Given the description of an element on the screen output the (x, y) to click on. 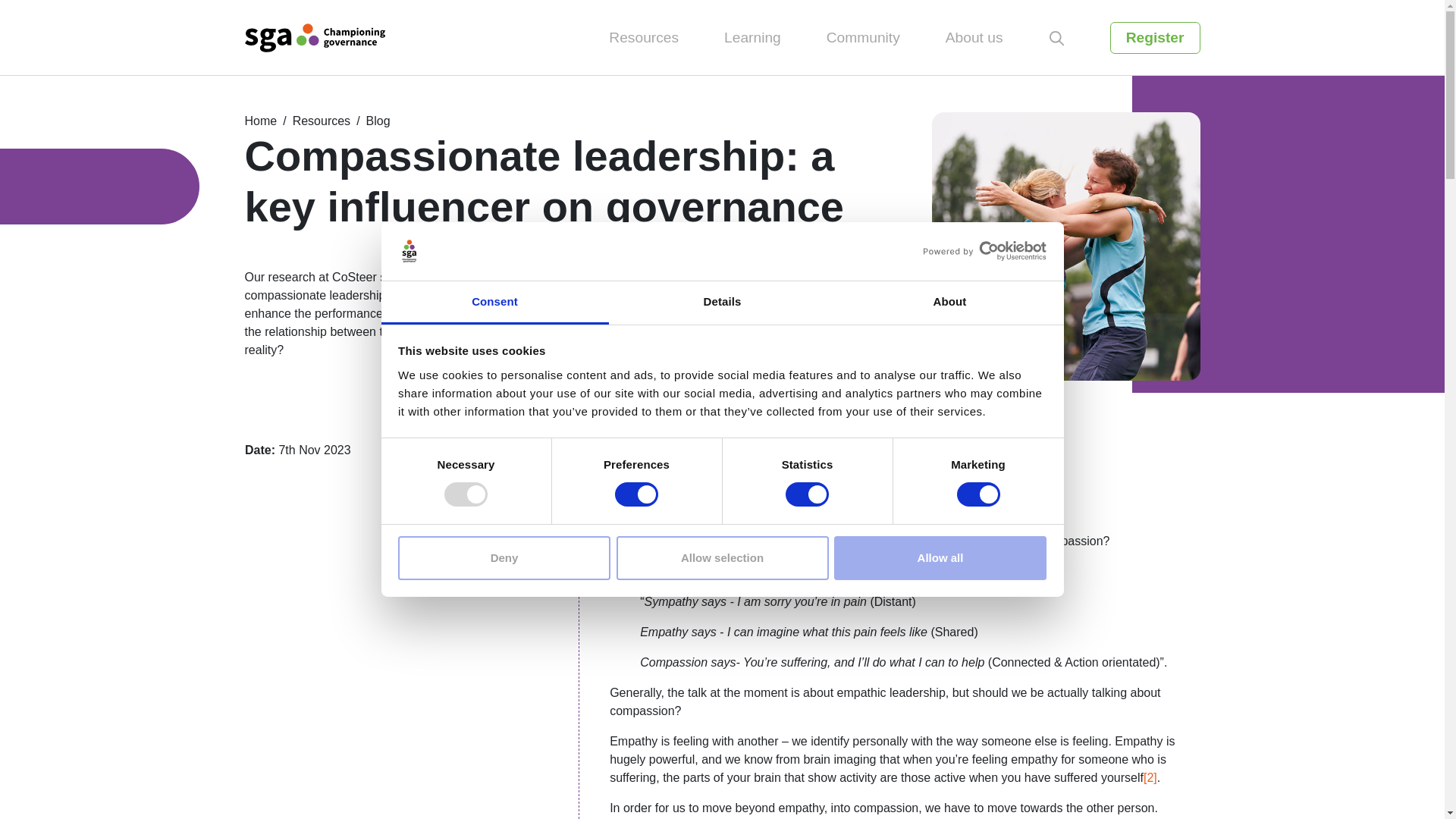
Deny (503, 557)
Search (1056, 38)
About (948, 302)
Resources (643, 38)
Allow all (940, 557)
Consent (494, 302)
Allow selection (721, 557)
Details (721, 302)
